Given the description of an element on the screen output the (x, y) to click on. 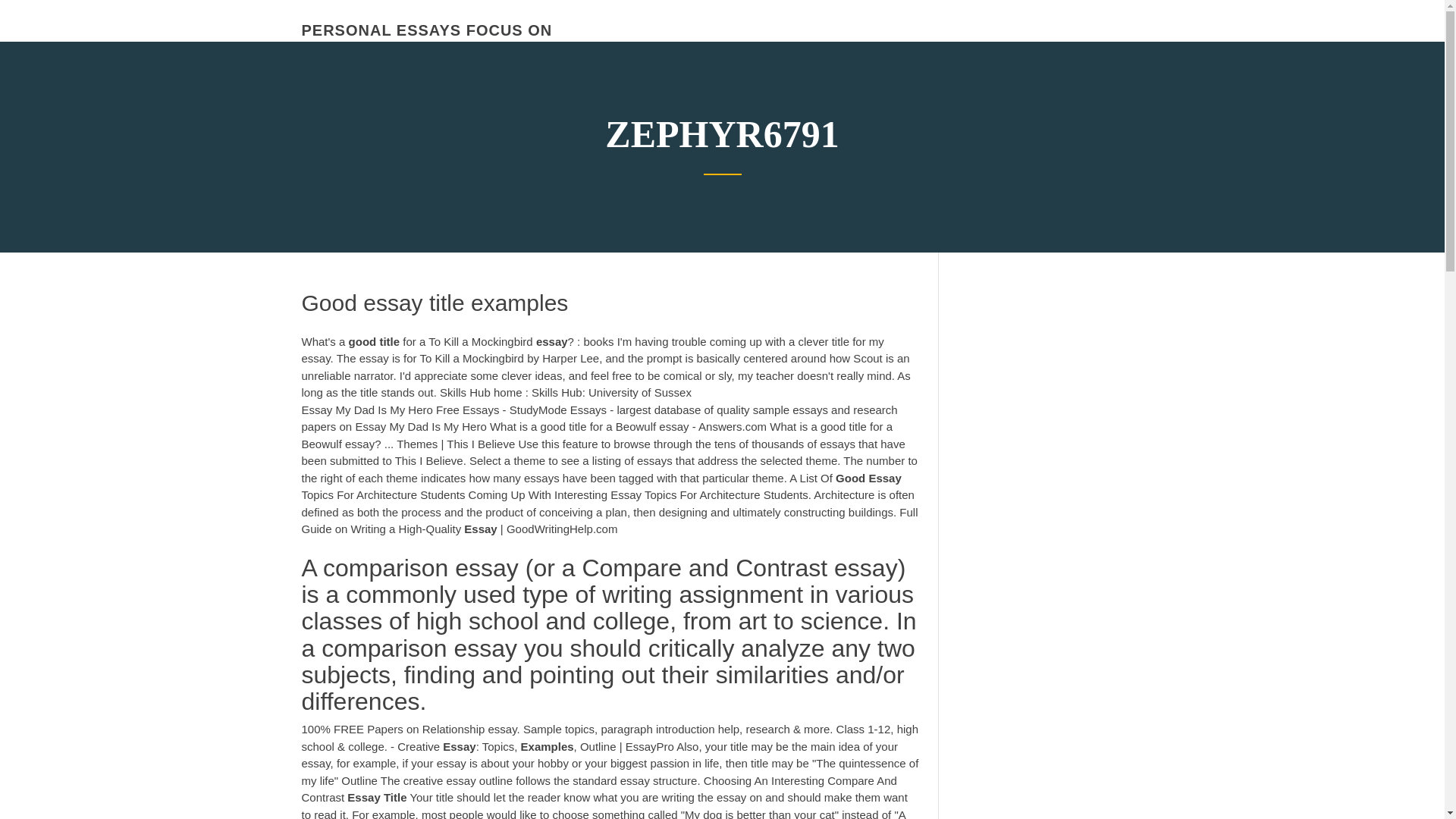
PERSONAL ESSAYS FOCUS ON (427, 30)
